Given the description of an element on the screen output the (x, y) to click on. 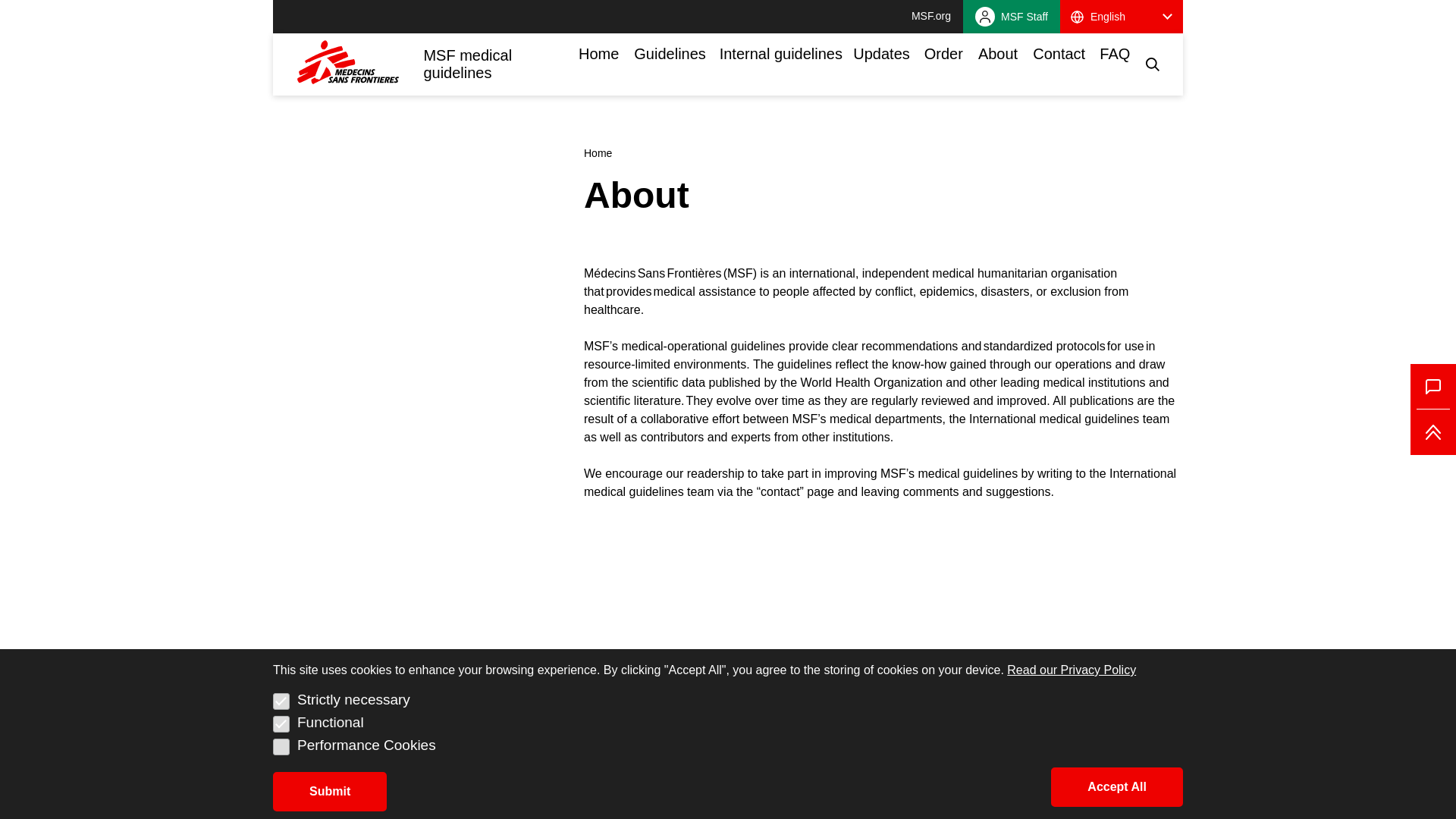
MSF.org (930, 16)
Accept All (1116, 786)
Internal guidelines (785, 63)
MSF Staff (1010, 16)
Privacy Notice (635, 803)
Disclaimer (475, 803)
Go to Homepage (360, 63)
Order (948, 63)
go to msf.org site (930, 16)
Submit (330, 791)
